Given the description of an element on the screen output the (x, y) to click on. 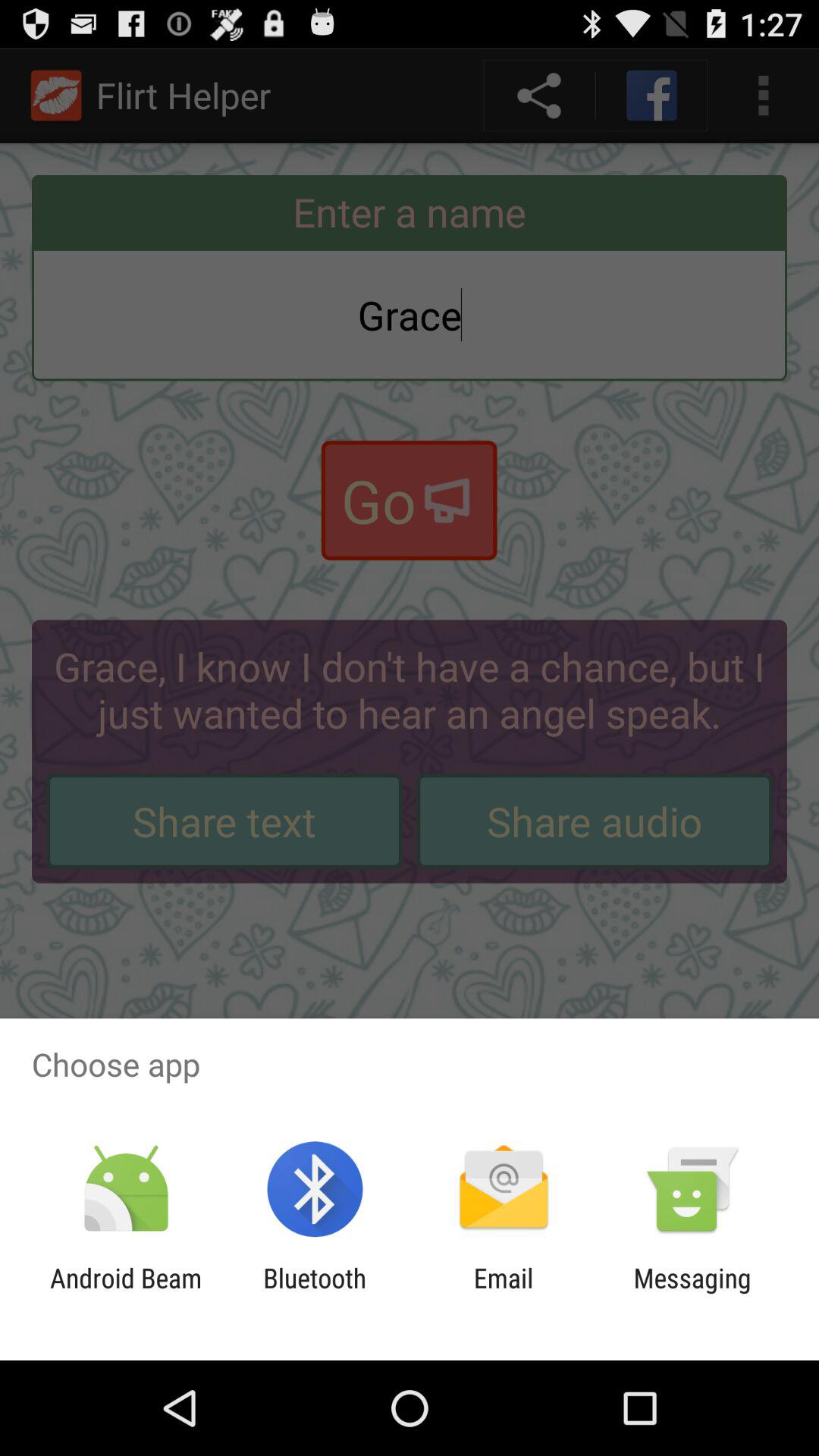
press item next to the android beam item (314, 1293)
